Given the description of an element on the screen output the (x, y) to click on. 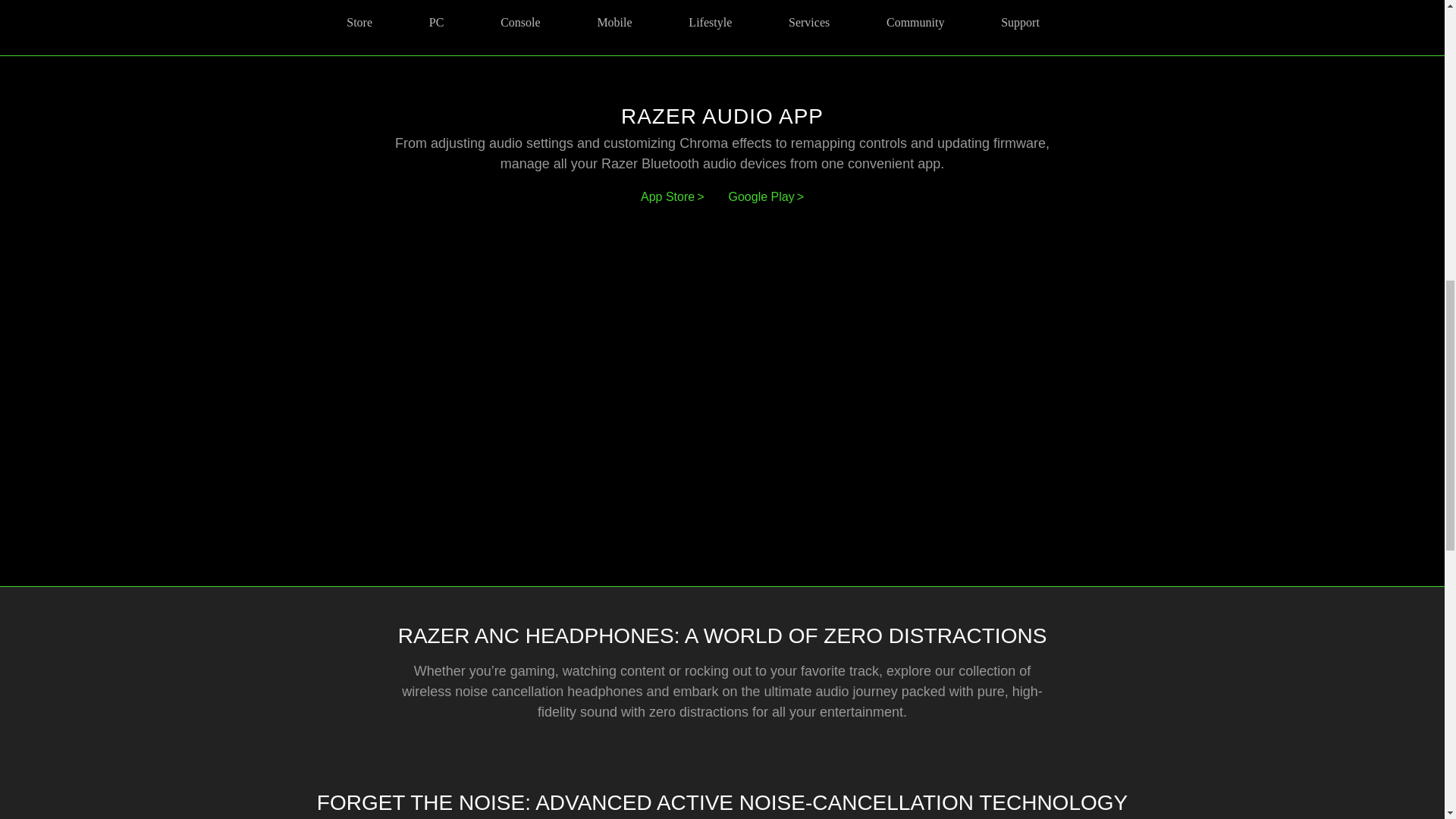
App Store (672, 196)
Google Play (765, 196)
